Given the description of an element on the screen output the (x, y) to click on. 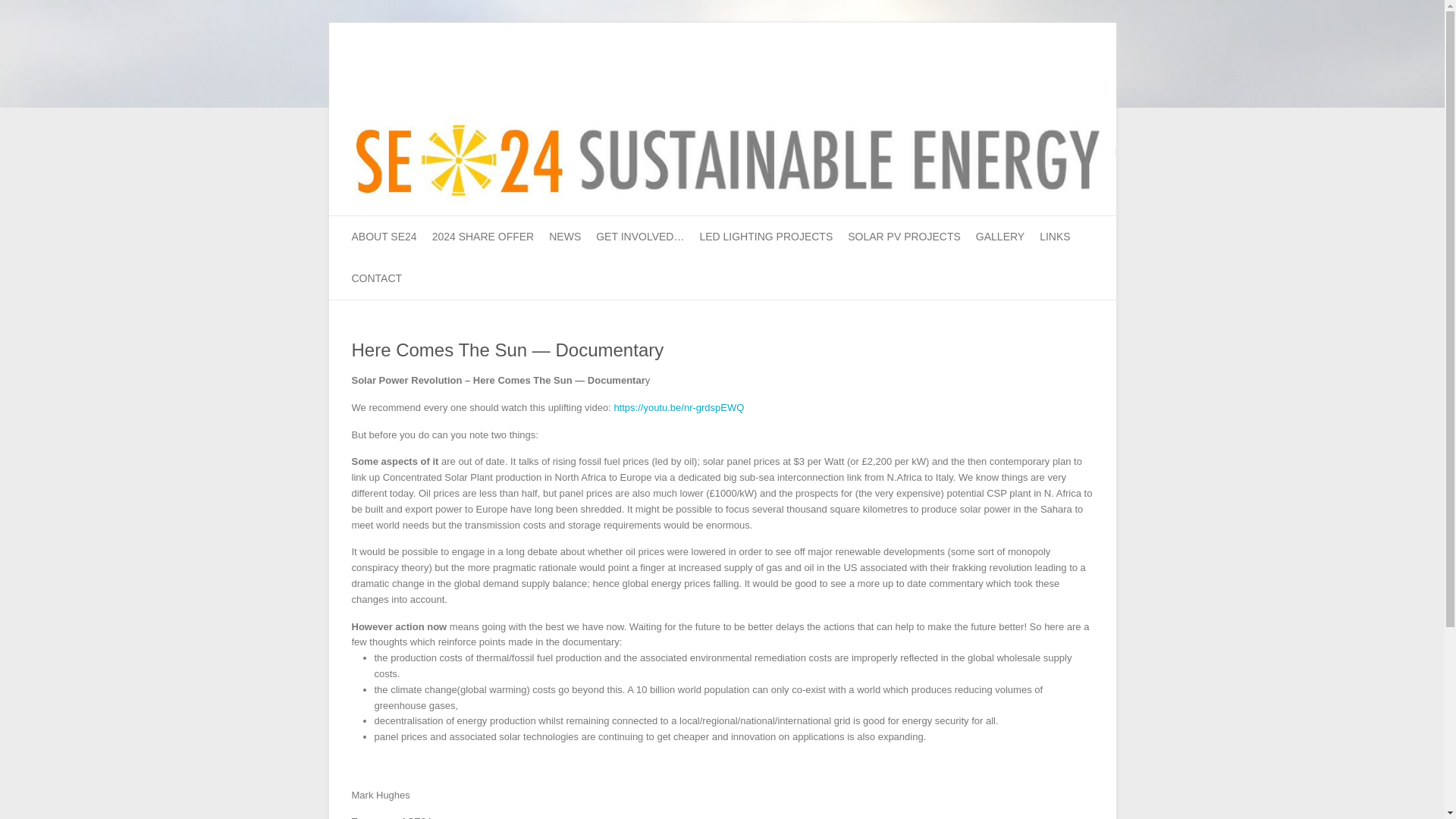
ABOUT SE24 (384, 236)
LED LIGHTING PROJECTS (765, 236)
CONTACT (377, 278)
SOLAR PV PROJECTS (903, 236)
2024 SHARE OFFER (483, 236)
GALLERY (1000, 236)
